Given the description of an element on the screen output the (x, y) to click on. 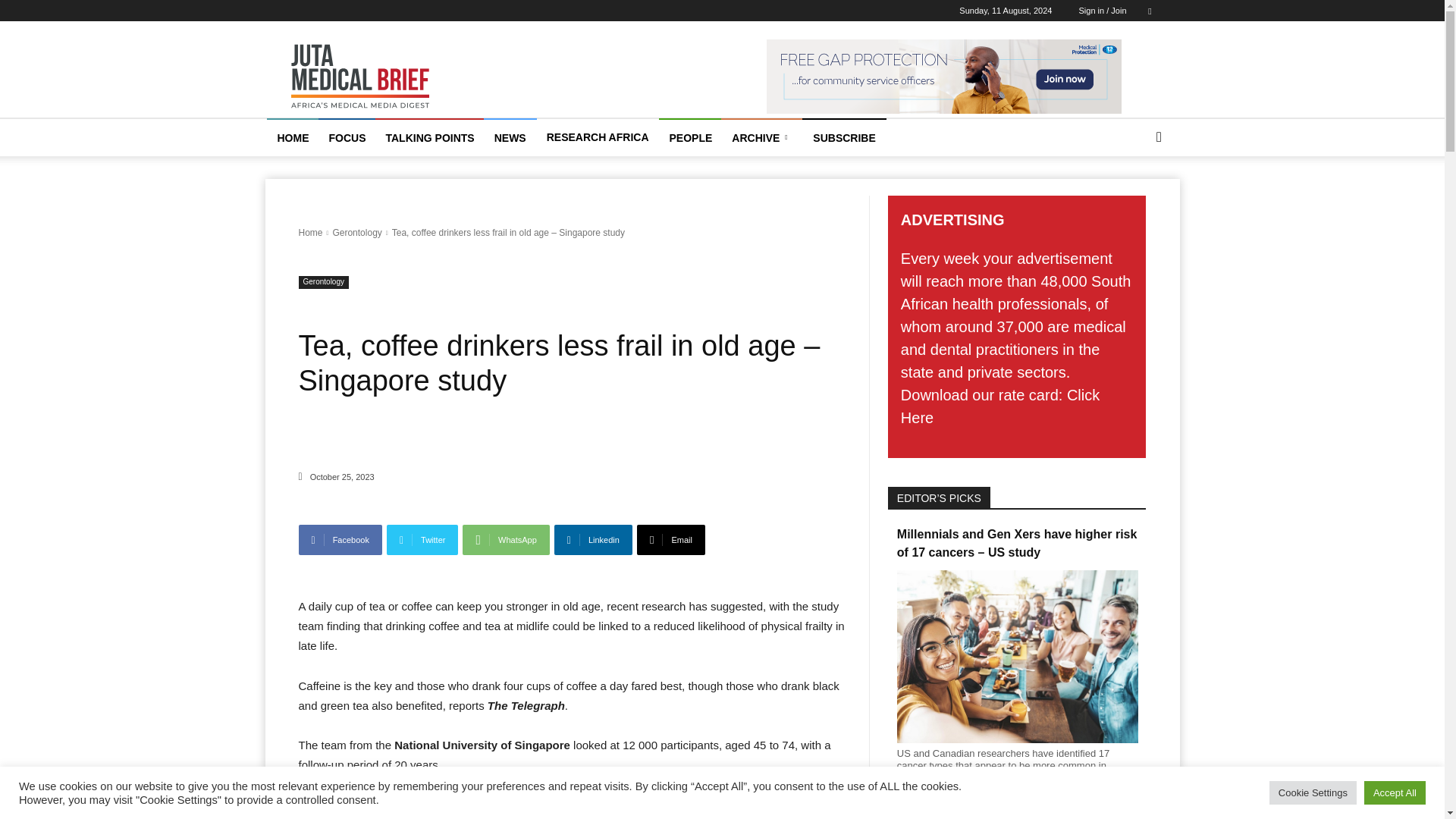
RESEARCH AFRICA (597, 136)
Email (670, 539)
ARCHIVE (761, 137)
Linkedin (592, 539)
WhatsApp (505, 539)
Facebook (339, 539)
Home (310, 232)
SUBSCRIBE (843, 137)
Search (1134, 197)
NEWS (510, 137)
